Given the description of an element on the screen output the (x, y) to click on. 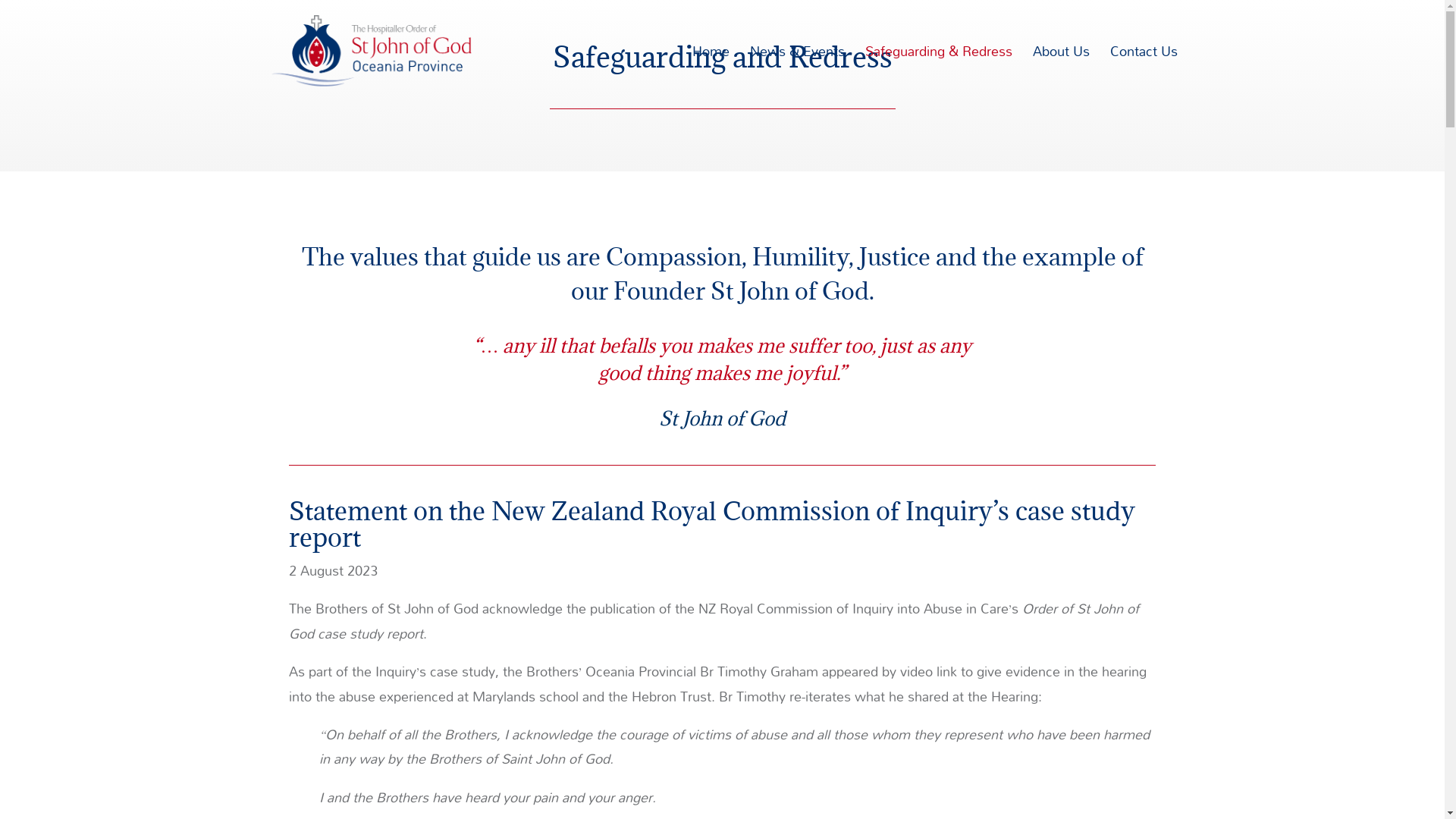
News & Events Element type: text (796, 73)
About Us Element type: text (1060, 73)
Home Element type: text (709, 73)
Contact Us Element type: text (1143, 73)
Safeguarding & Redress Element type: text (937, 73)
